Given the description of an element on the screen output the (x, y) to click on. 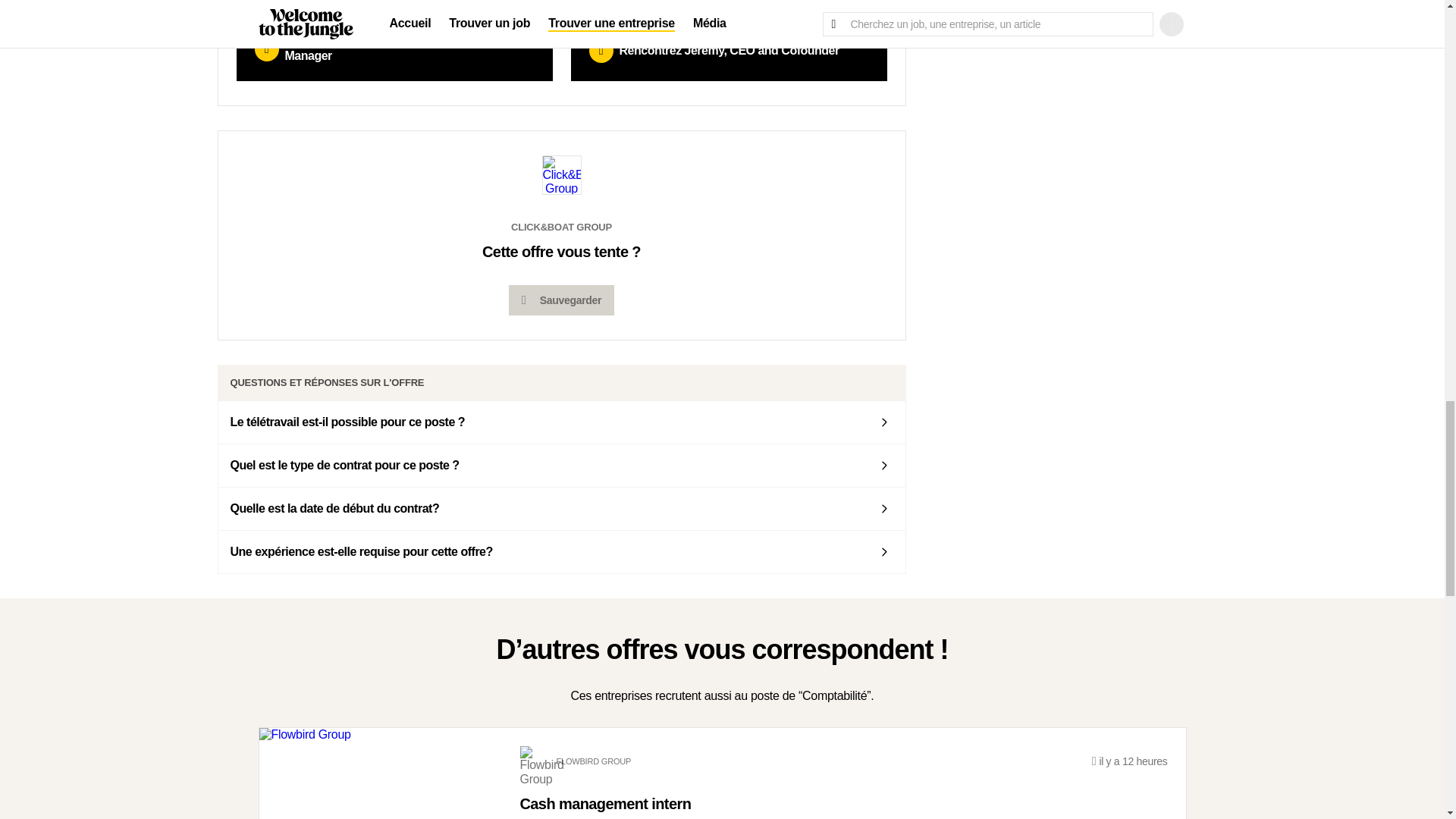
Cash management intern (843, 806)
Quel est le type de contrat pour ce poste ? (561, 465)
Play (266, 49)
Play (601, 50)
Sauvegarder (561, 300)
